Given the description of an element on the screen output the (x, y) to click on. 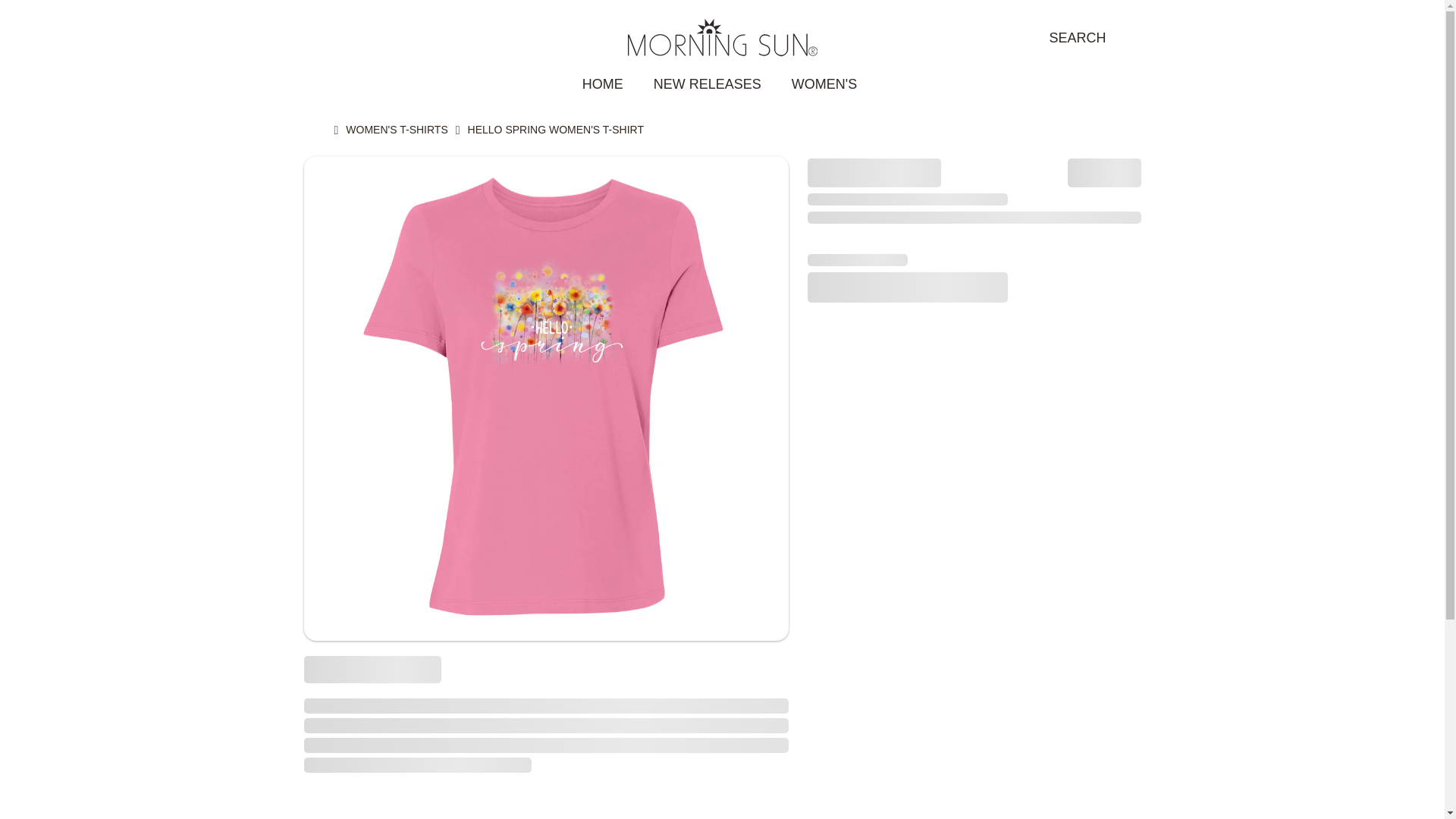
LOGIN (319, 37)
HOME (603, 84)
SKIP TO CONTENT (98, 21)
NEW RELEASES (707, 84)
CART (1130, 37)
WOMEN'S (826, 83)
